Given the description of an element on the screen output the (x, y) to click on. 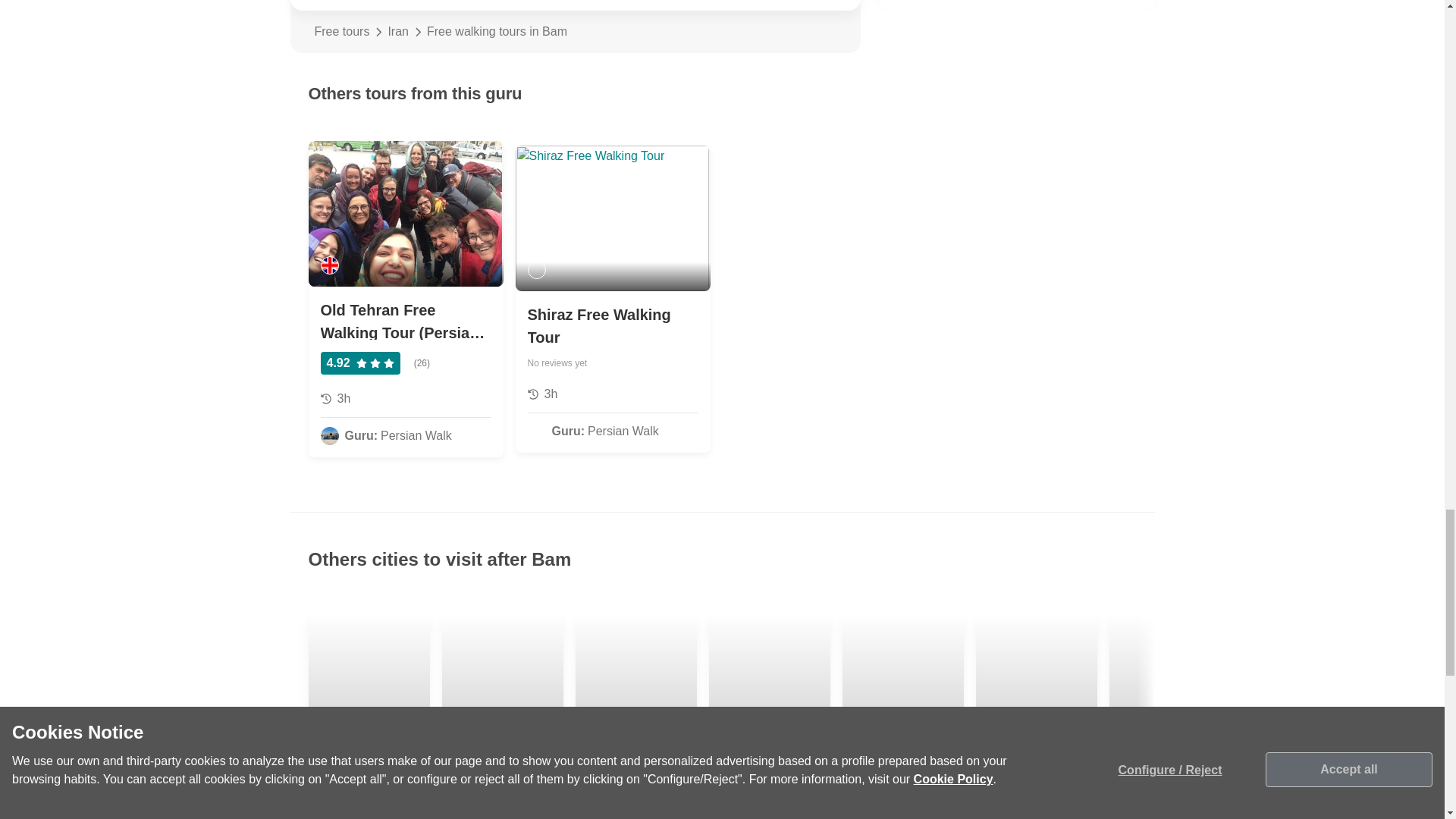
Free walking tours in Bam (630, 31)
Iran (398, 31)
Free tours (341, 31)
